Given the description of an element on the screen output the (x, y) to click on. 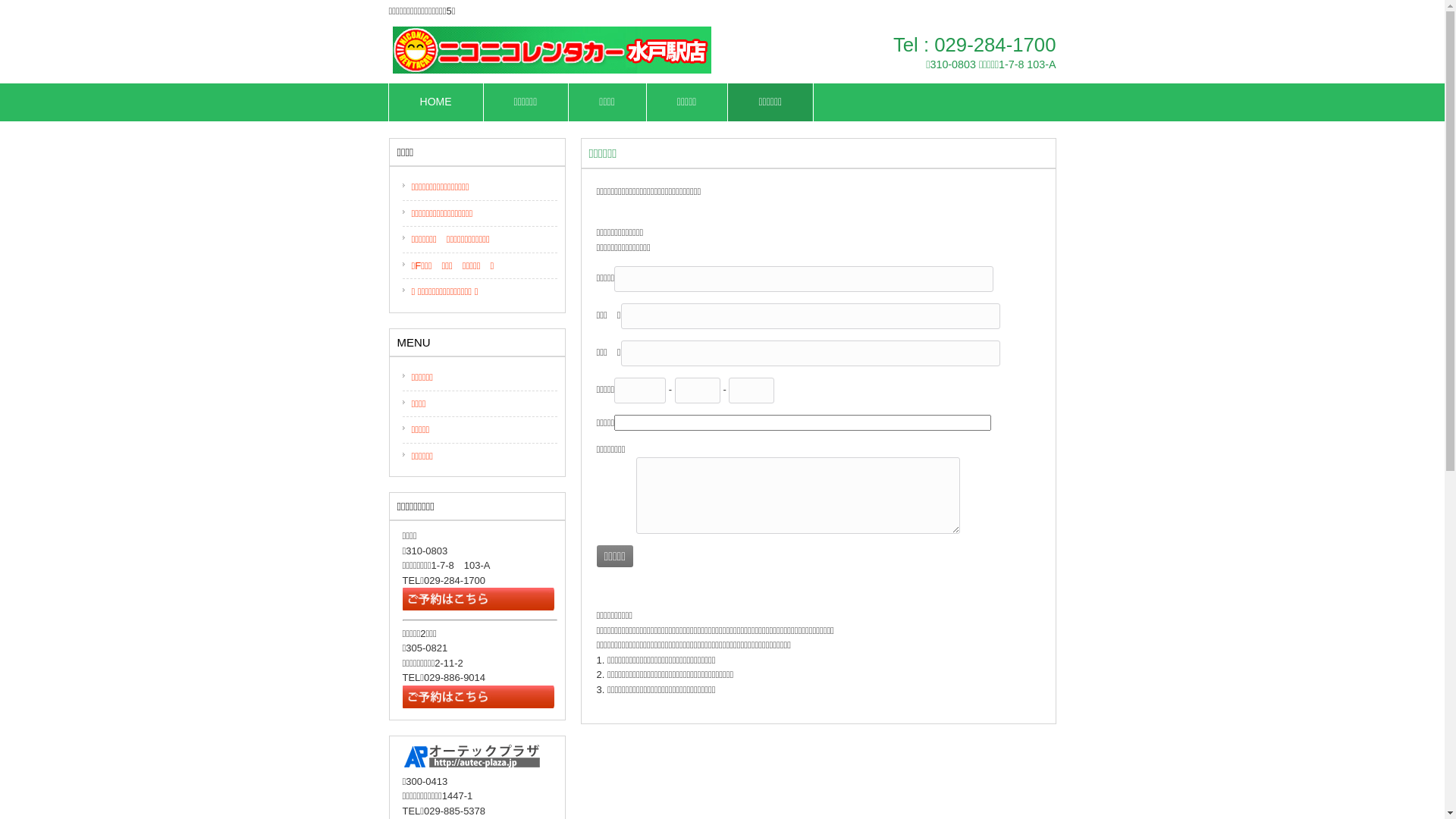
HOME Element type: text (435, 102)
